Given the description of an element on the screen output the (x, y) to click on. 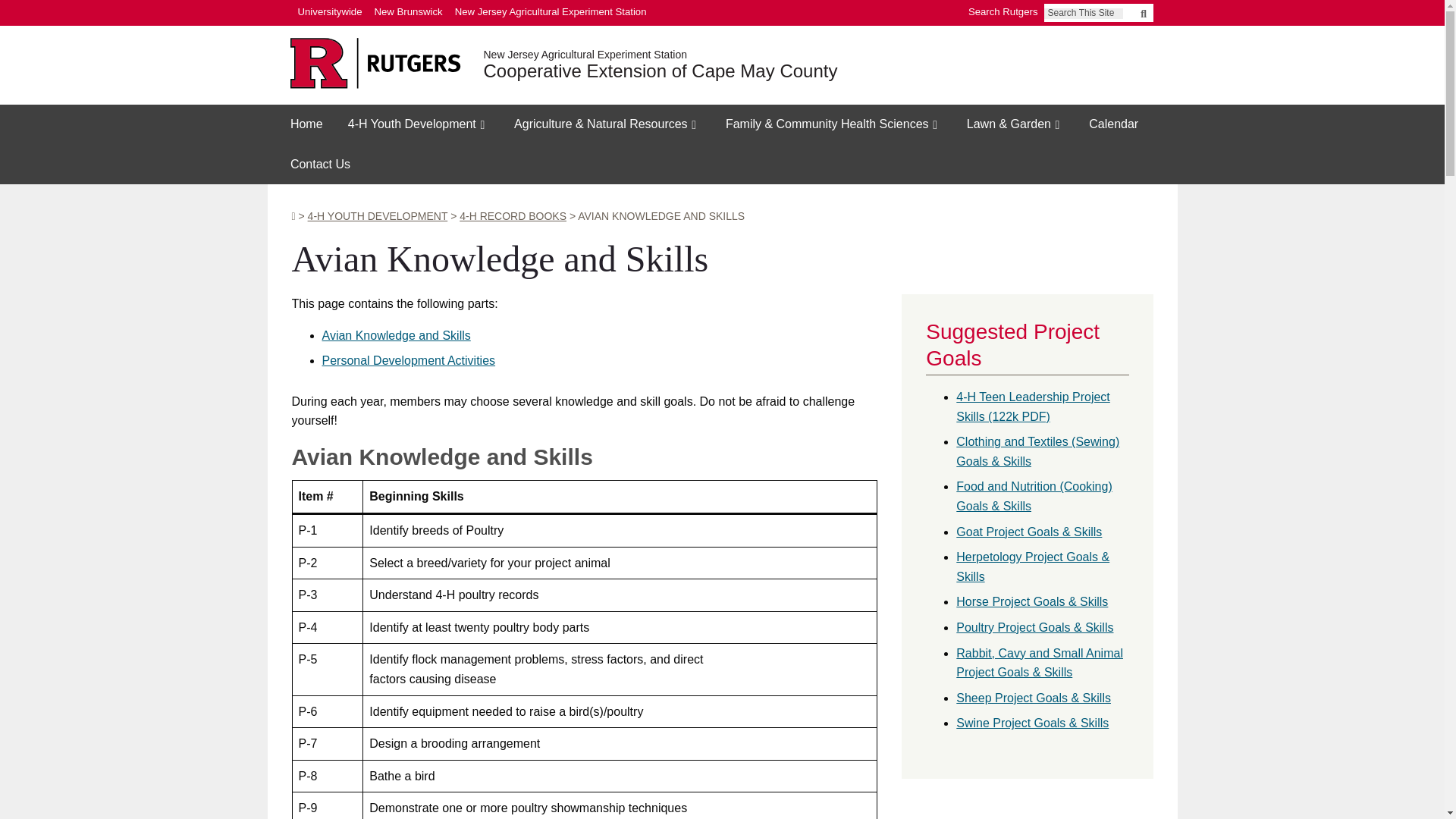
Search Rutgers (1002, 12)
New Jersey Agricultural Experiment Station (550, 12)
Go to Rutgers University homepage (374, 63)
Contact Us (320, 164)
Calendar (1114, 124)
Cooperative Extension of Cape May County (660, 70)
HOME (293, 215)
Avian Knowledge and Skills (395, 335)
Home (306, 124)
Personal Development Activities (408, 359)
4-H RECORD BOOKS (513, 215)
Universitywide (329, 12)
New Jersey Agricultural Experiment Station (585, 54)
New Brunswick (408, 12)
